Given the description of an element on the screen output the (x, y) to click on. 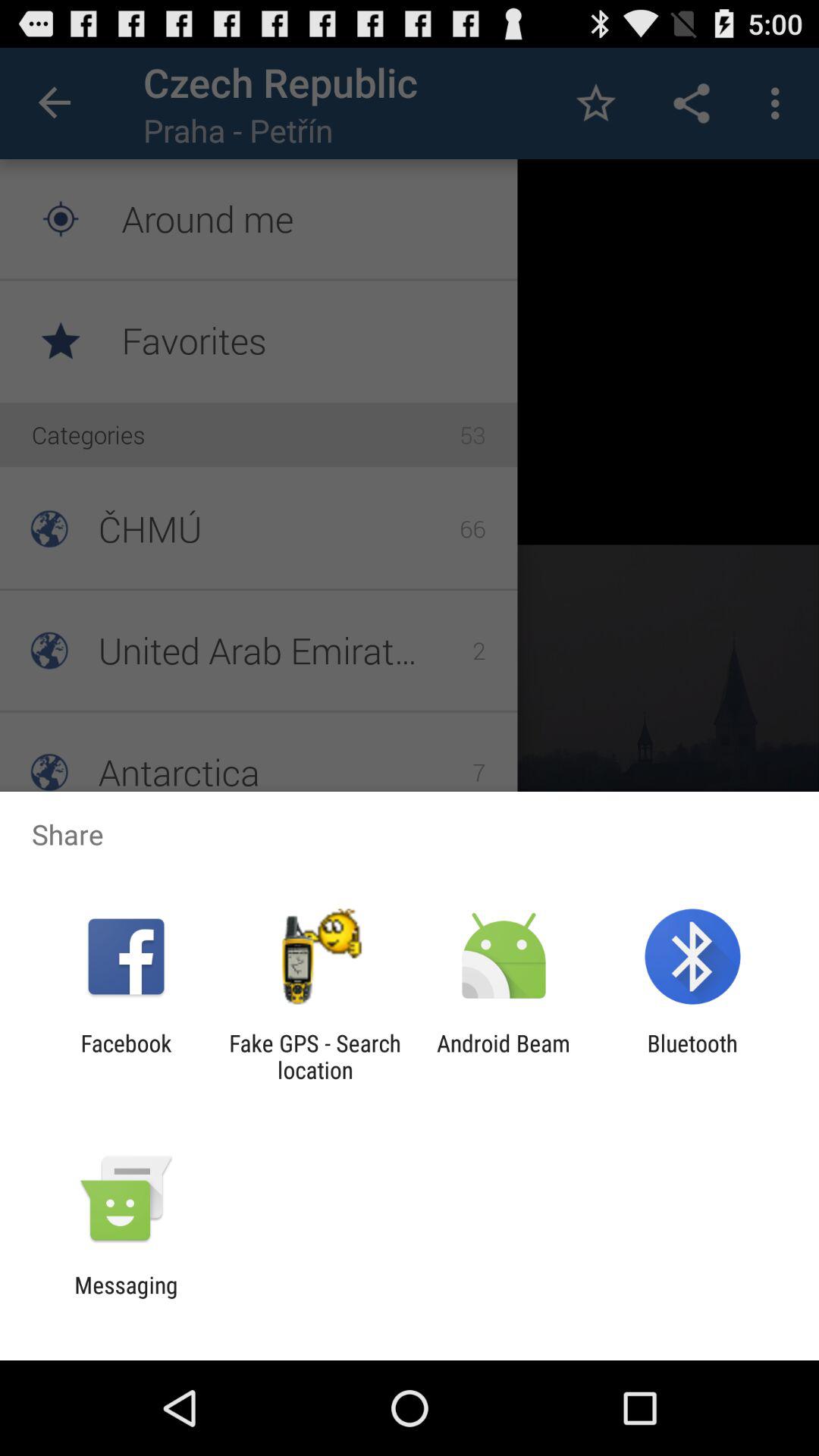
click icon to the left of bluetooth (503, 1056)
